Given the description of an element on the screen output the (x, y) to click on. 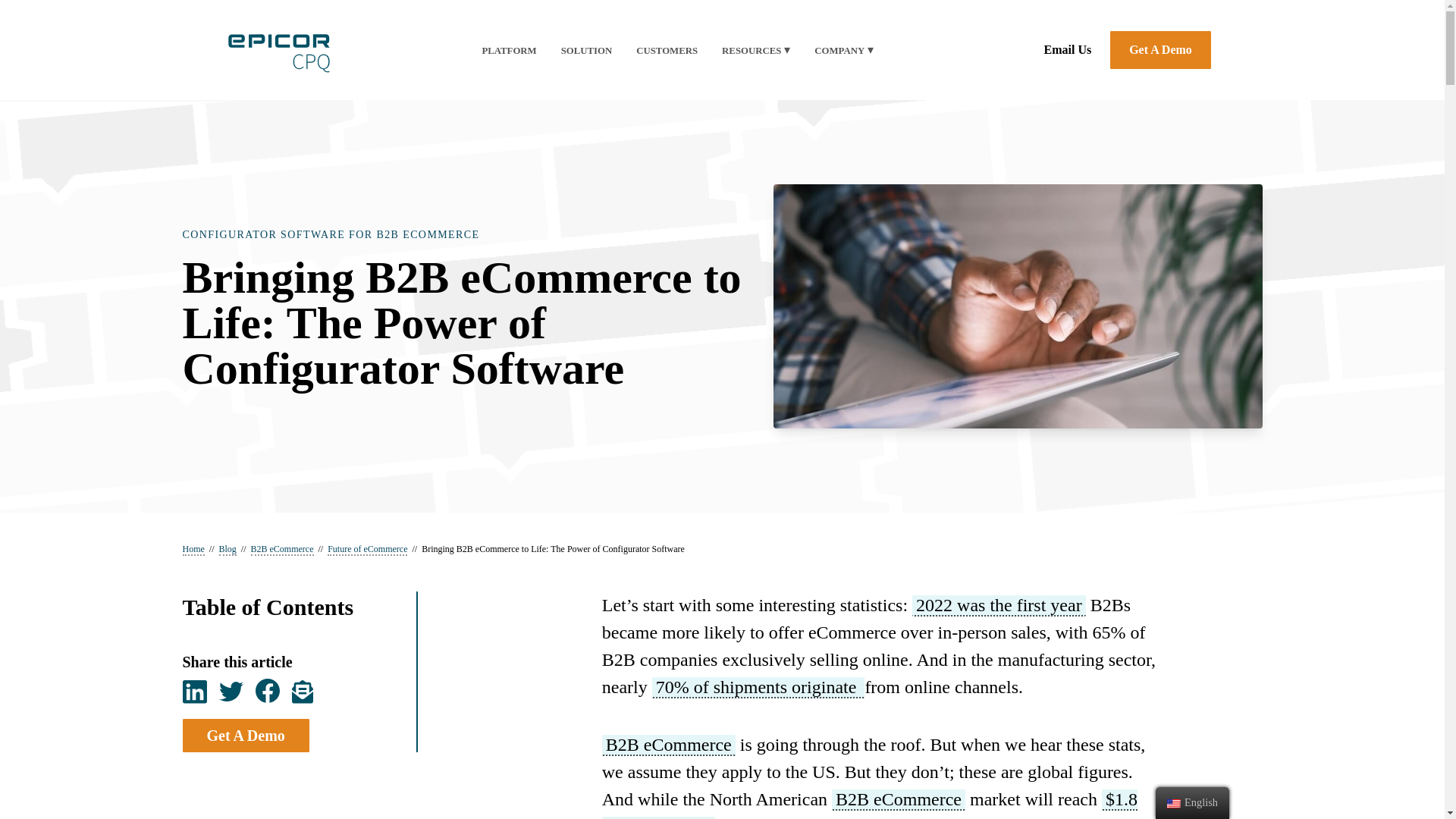
B2B eCommerce (668, 744)
Share on LinkedIn (194, 690)
COMPANY (838, 51)
Share on Twitter (230, 690)
Email Us (1067, 49)
Platform (508, 51)
SOLUTION (586, 51)
B2B eCommerce (898, 799)
Blog (226, 549)
Customers (666, 51)
